Given the description of an element on the screen output the (x, y) to click on. 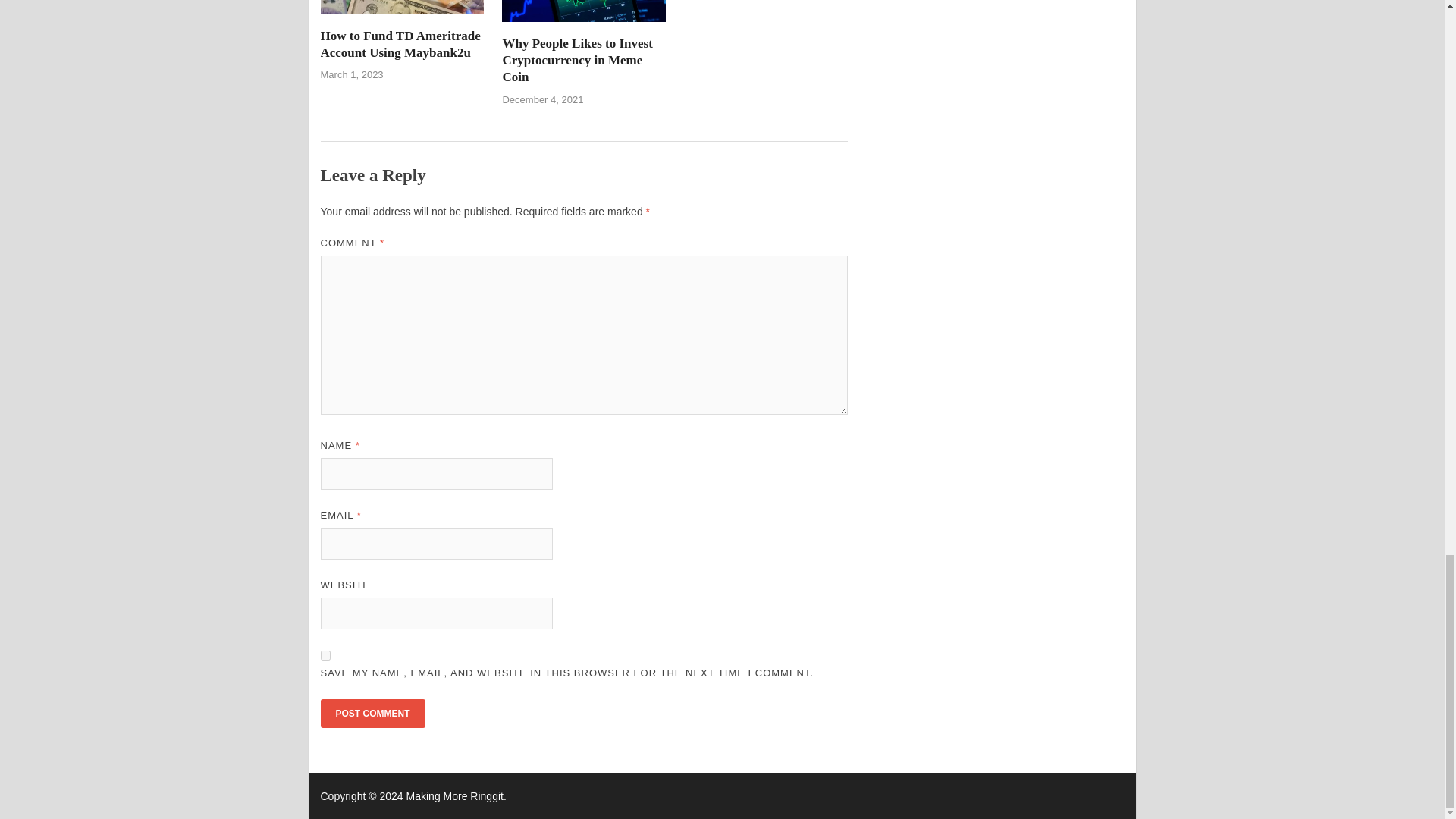
How to Fund TD Ameritrade Account Using Maybank2u (400, 43)
How to Fund TD Ameritrade Account Using Maybank2u (400, 43)
Making More Ringgit (454, 796)
How to Fund TD Ameritrade Account Using Maybank2u (401, 18)
Why People Likes to Invest Cryptocurrency in Meme Coin (583, 25)
Why People Likes to Invest Cryptocurrency in Meme Coin (577, 60)
Post Comment (372, 713)
yes (325, 655)
